Given the description of an element on the screen output the (x, y) to click on. 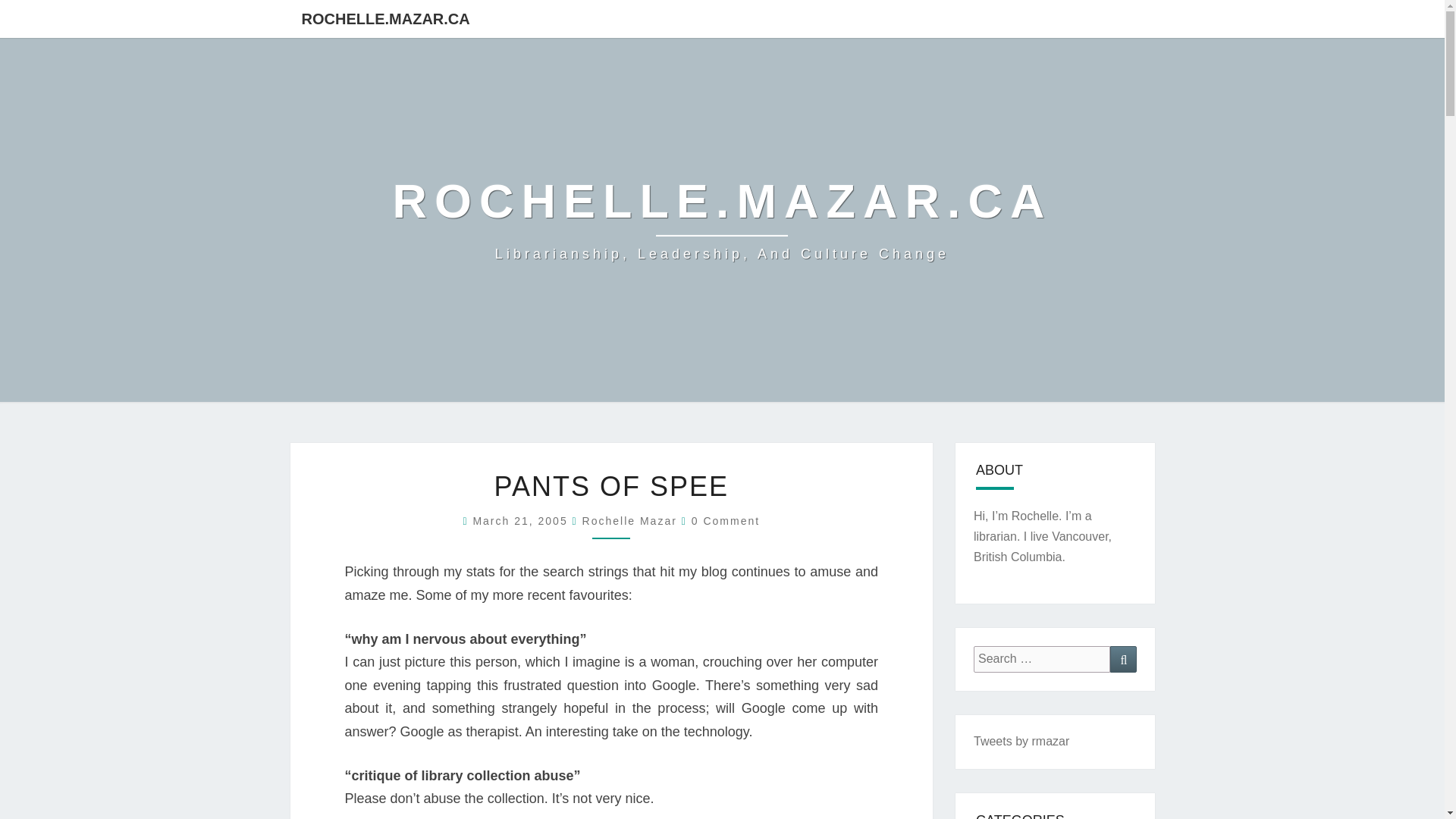
March 21, 2005 (521, 521)
11:49 am (521, 521)
View all posts by Rochelle Mazar (629, 521)
Tweets by rmazar (1021, 740)
Search (1123, 659)
Search for: (1041, 659)
Rochelle Mazar (629, 521)
rochelle.mazar.ca (722, 219)
ROCHELLE.MAZAR.CA (384, 18)
